Given the description of an element on the screen output the (x, y) to click on. 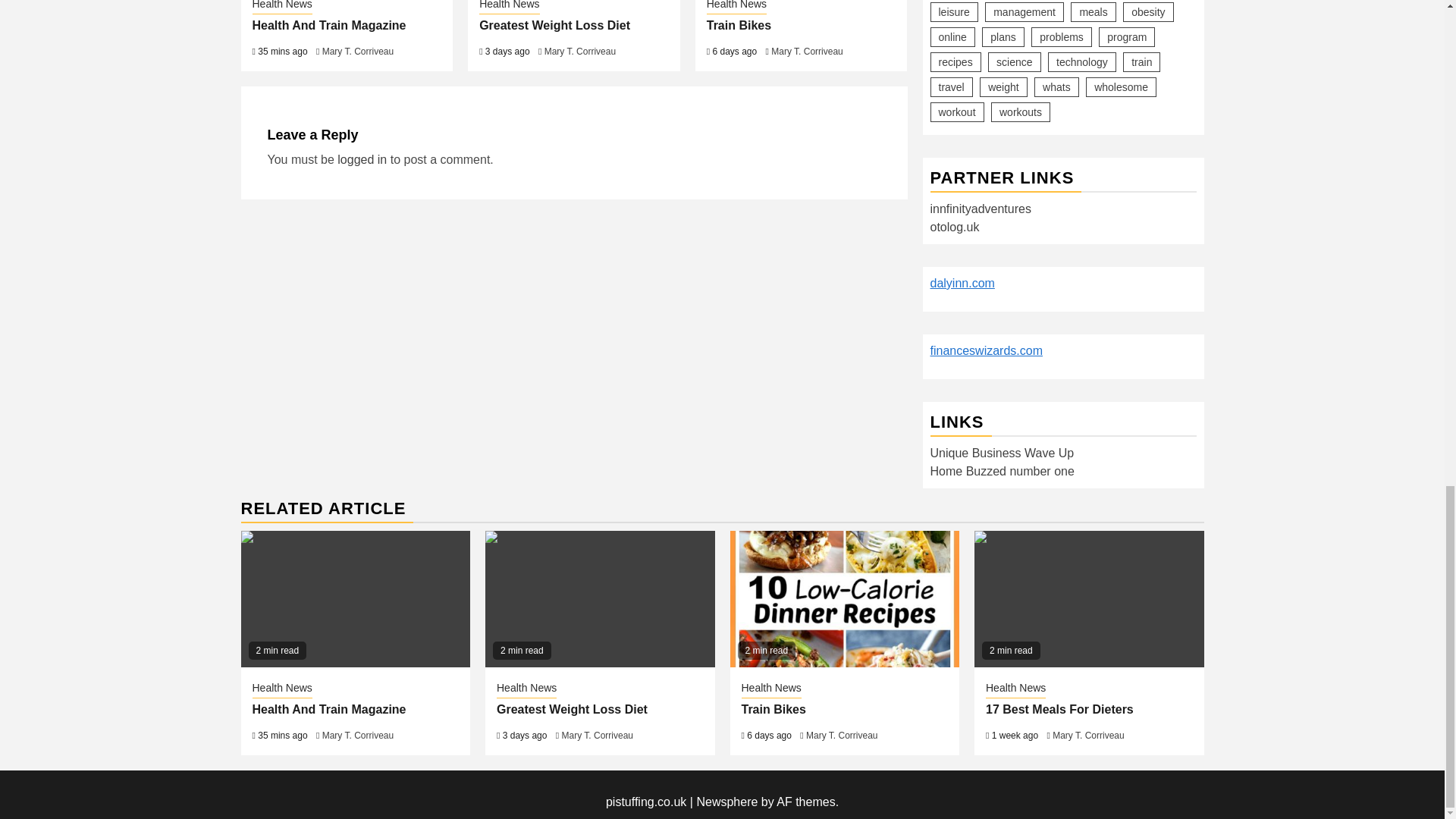
Health And Train Magazine (355, 598)
Health News (281, 7)
Train Bikes (844, 598)
Health News (508, 7)
logged in (362, 159)
Greatest Weight Loss Diet (554, 24)
Mary T. Corriveau (807, 50)
Health And Train Magazine (328, 24)
Greatest Weight Loss Diet (599, 598)
Mary T. Corriveau (579, 50)
